Given the description of an element on the screen output the (x, y) to click on. 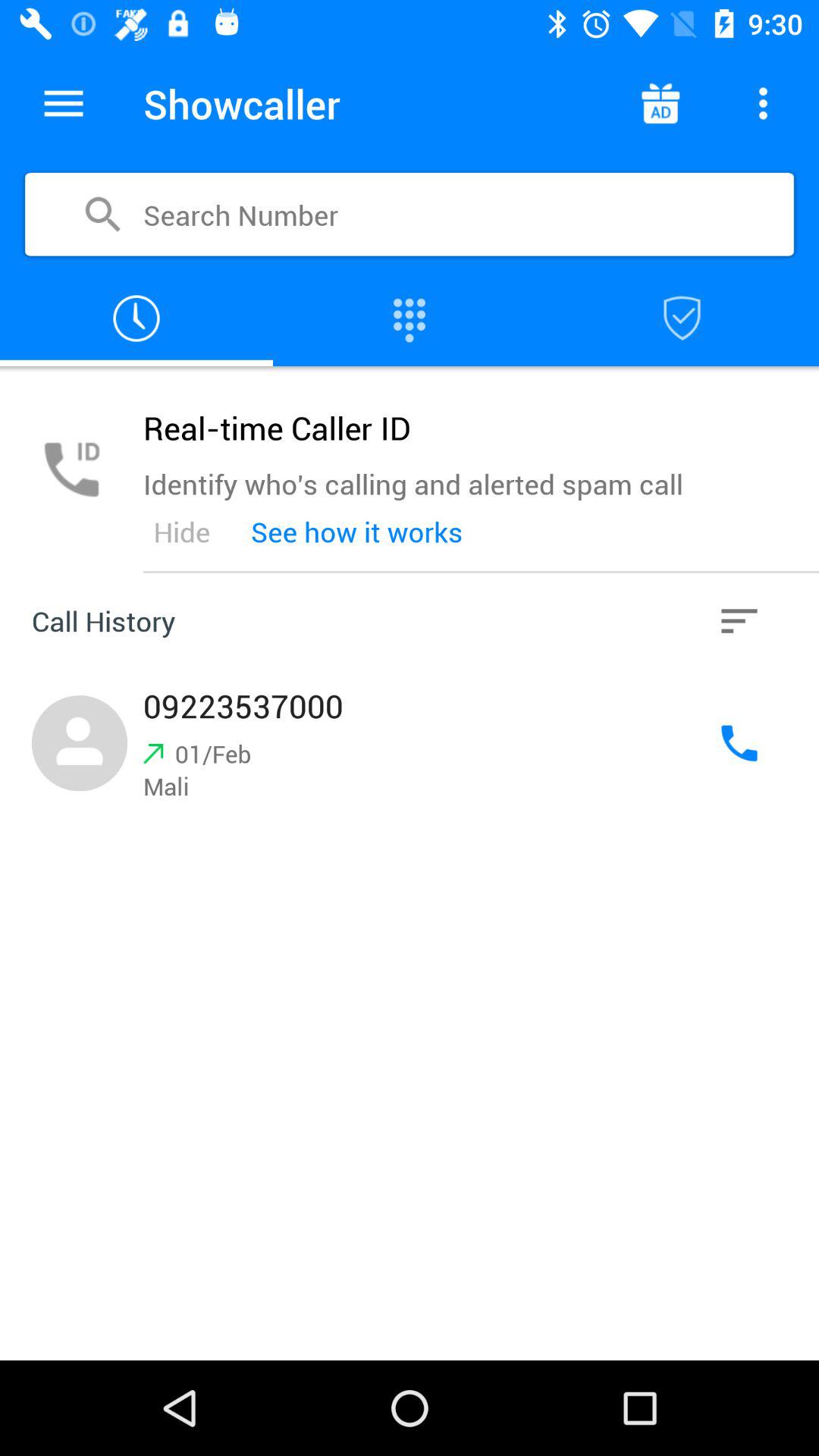
launch icon below the identify who s icon (181, 531)
